Given the description of an element on the screen output the (x, y) to click on. 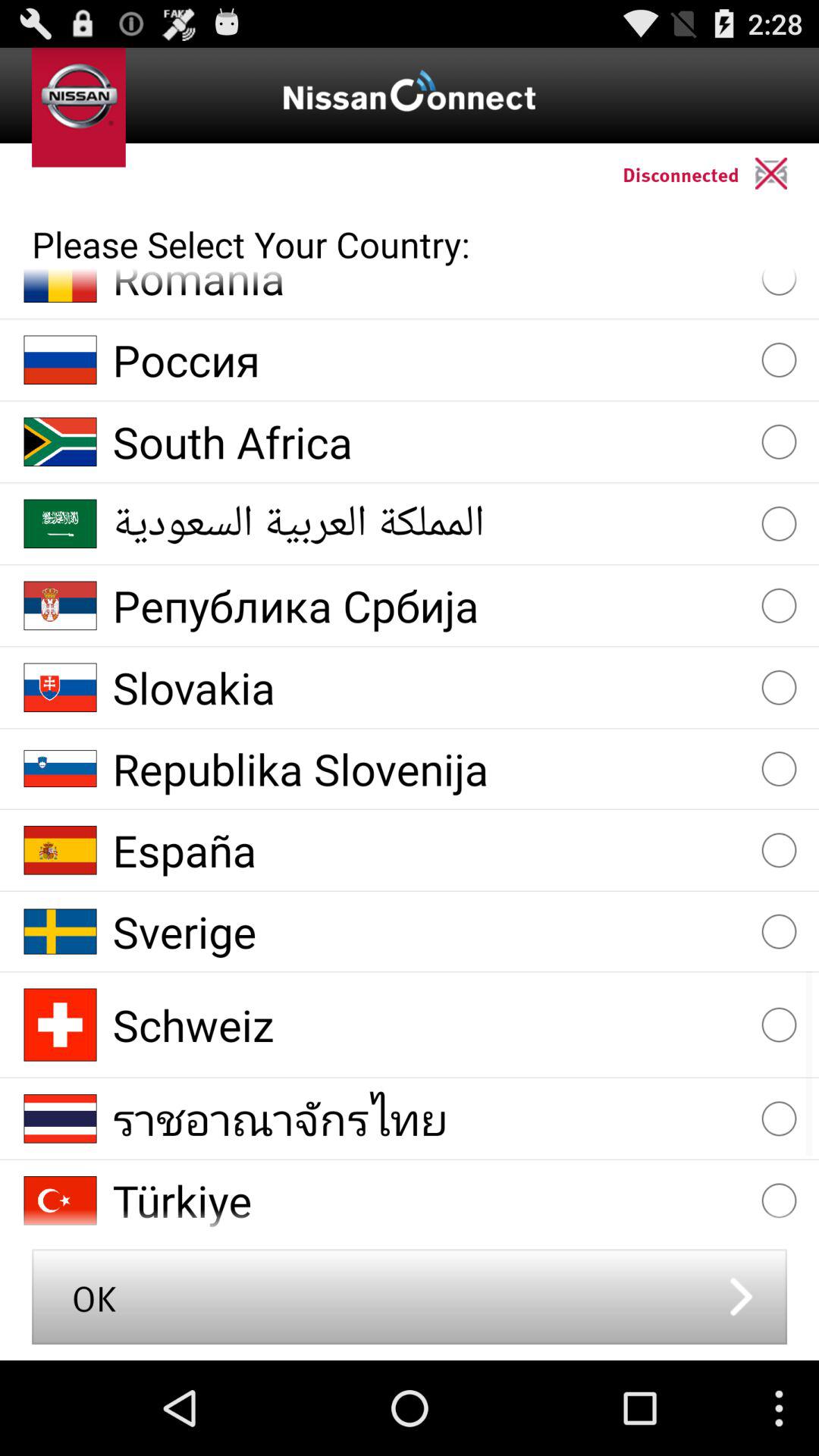
swipe to the republika slovenija icon (429, 768)
